Given the description of an element on the screen output the (x, y) to click on. 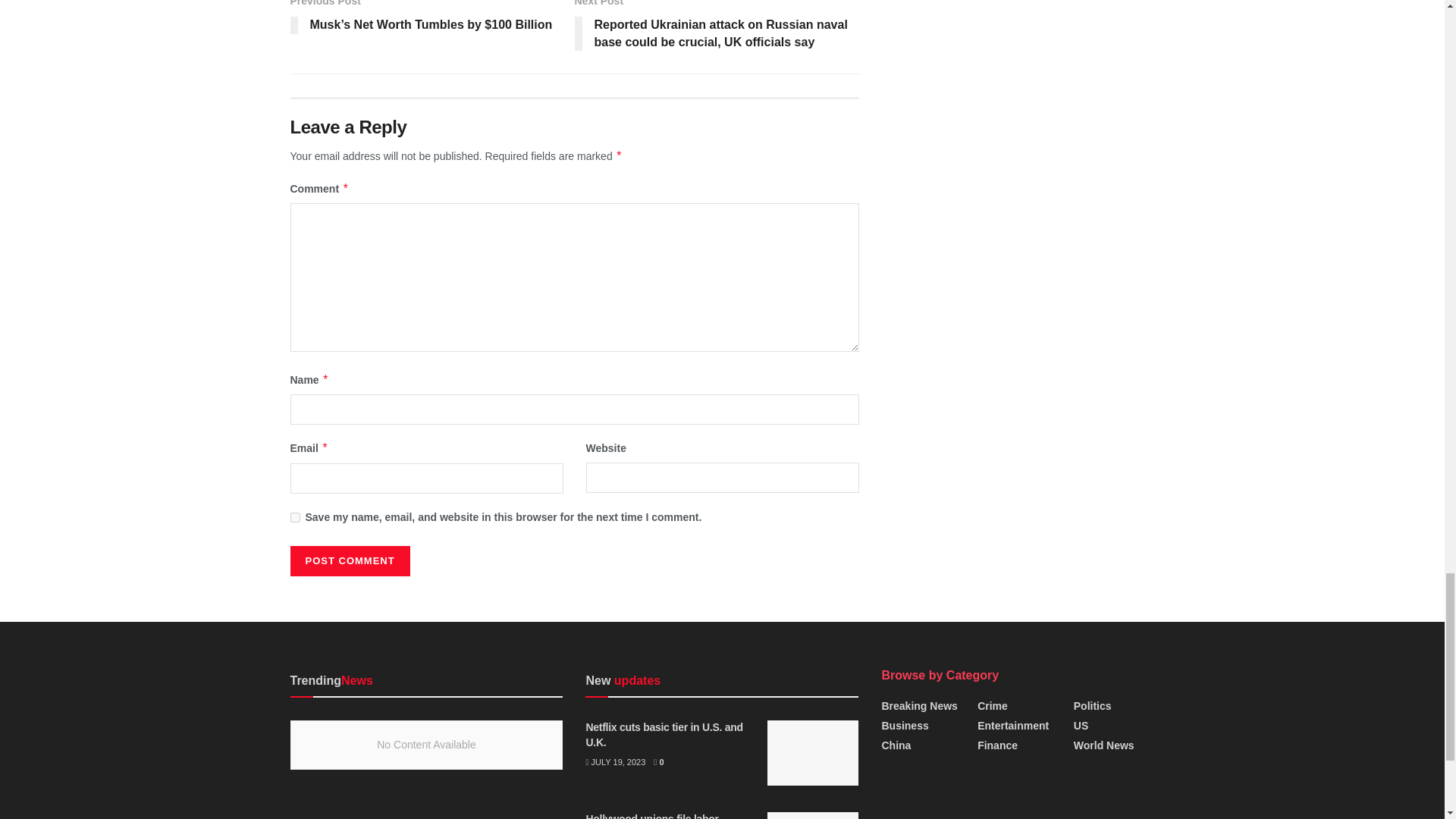
Post Comment (349, 561)
yes (294, 517)
